Given the description of an element on the screen output the (x, y) to click on. 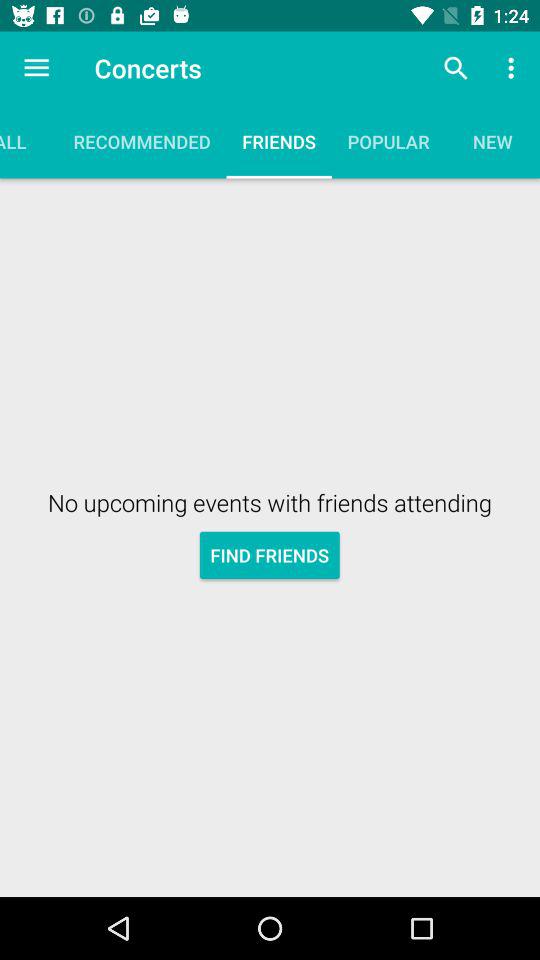
turn off the item to the right of concerts item (455, 67)
